Given the description of an element on the screen output the (x, y) to click on. 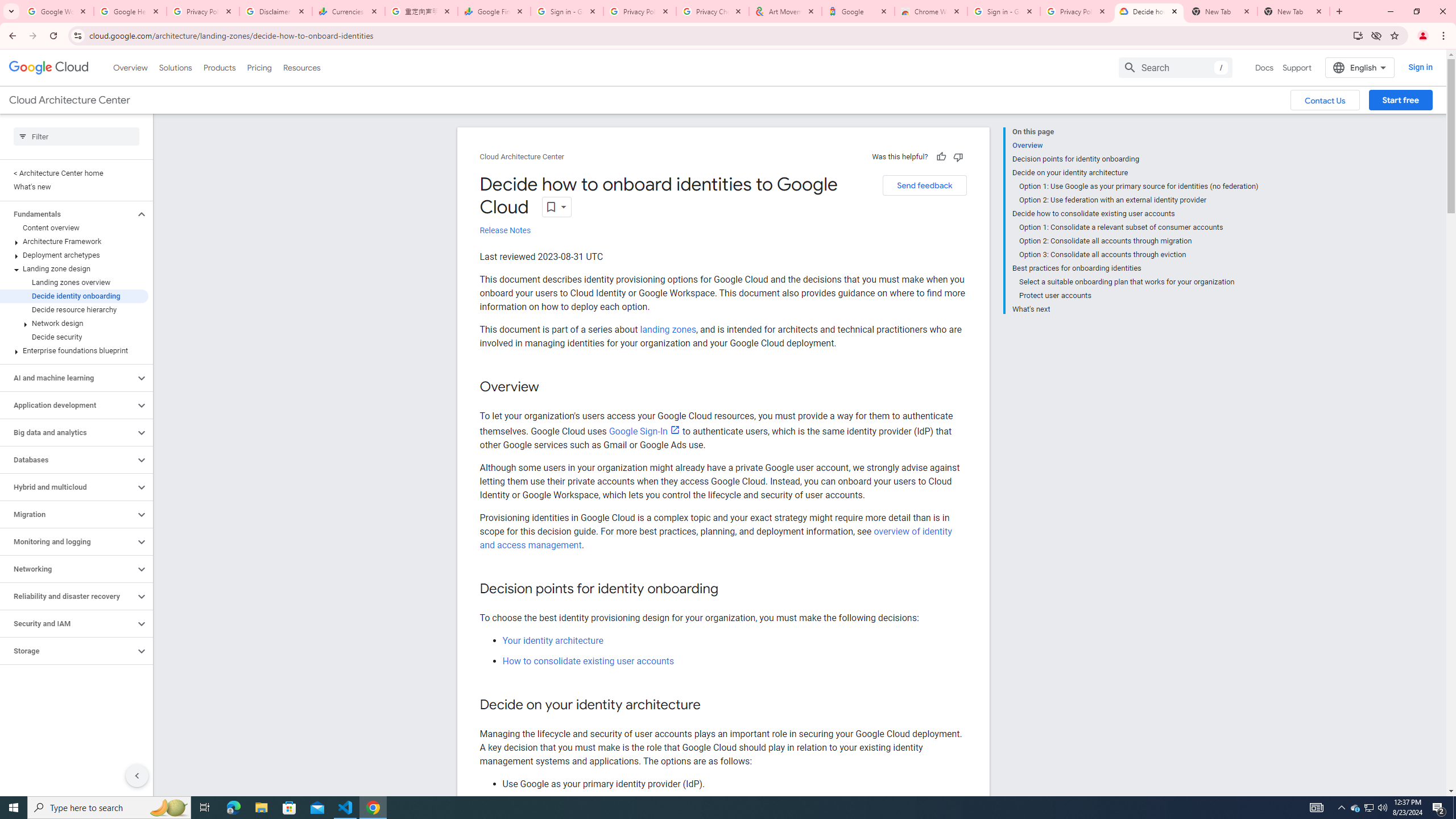
Option 3: Consolidate all accounts through eviction (1138, 254)
Monitoring and logging (67, 541)
Google (857, 11)
Pricing (259, 67)
Google Sign-In (643, 430)
Release Notes (505, 230)
Send feedback (924, 185)
Enterprise foundations blueprint (74, 350)
